Given the description of an element on the screen output the (x, y) to click on. 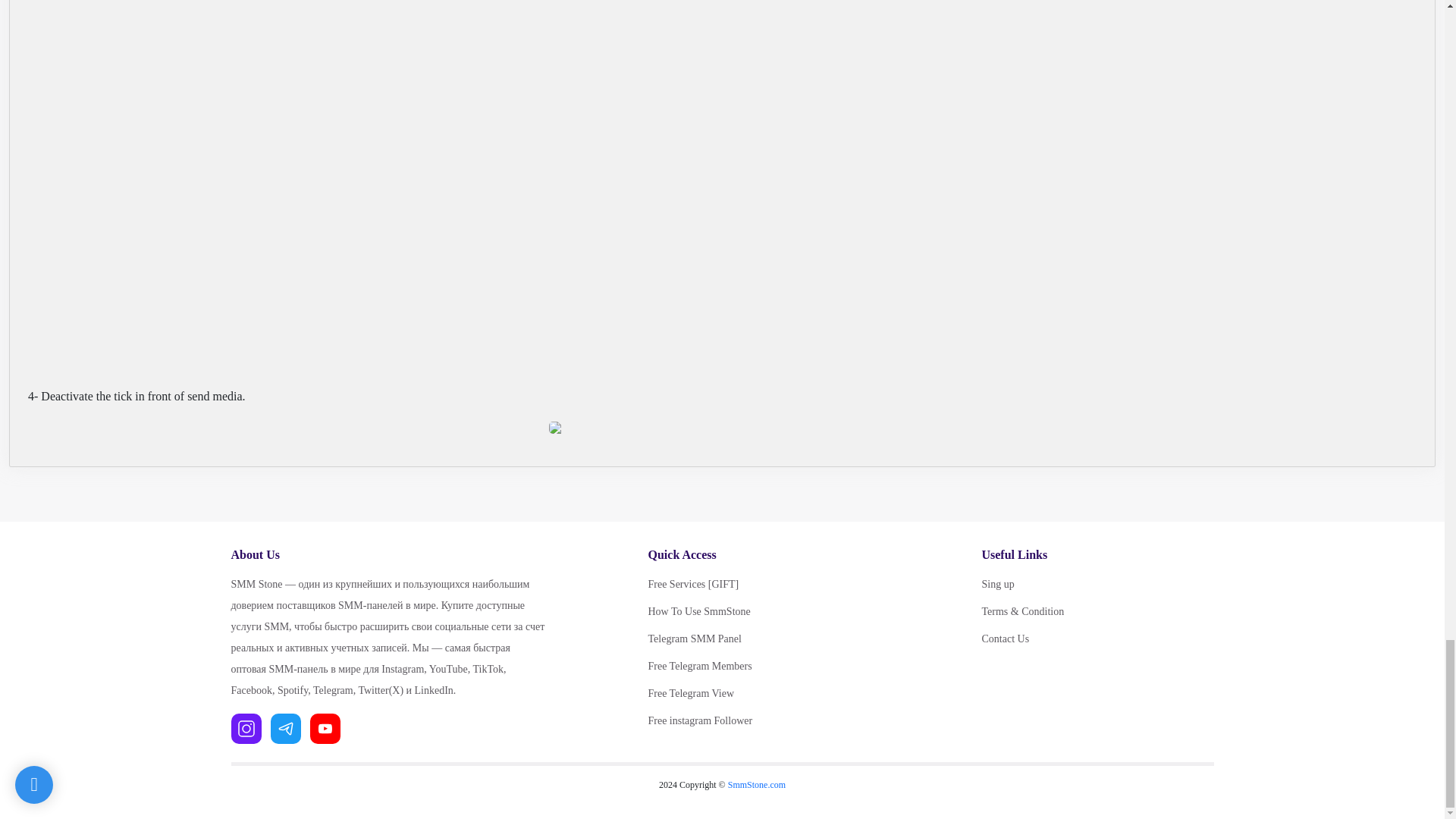
smmstone (757, 784)
How To Use SmmStone (763, 611)
Free Telegram Members (763, 666)
Telegram SMM Panel (763, 639)
